Given the description of an element on the screen output the (x, y) to click on. 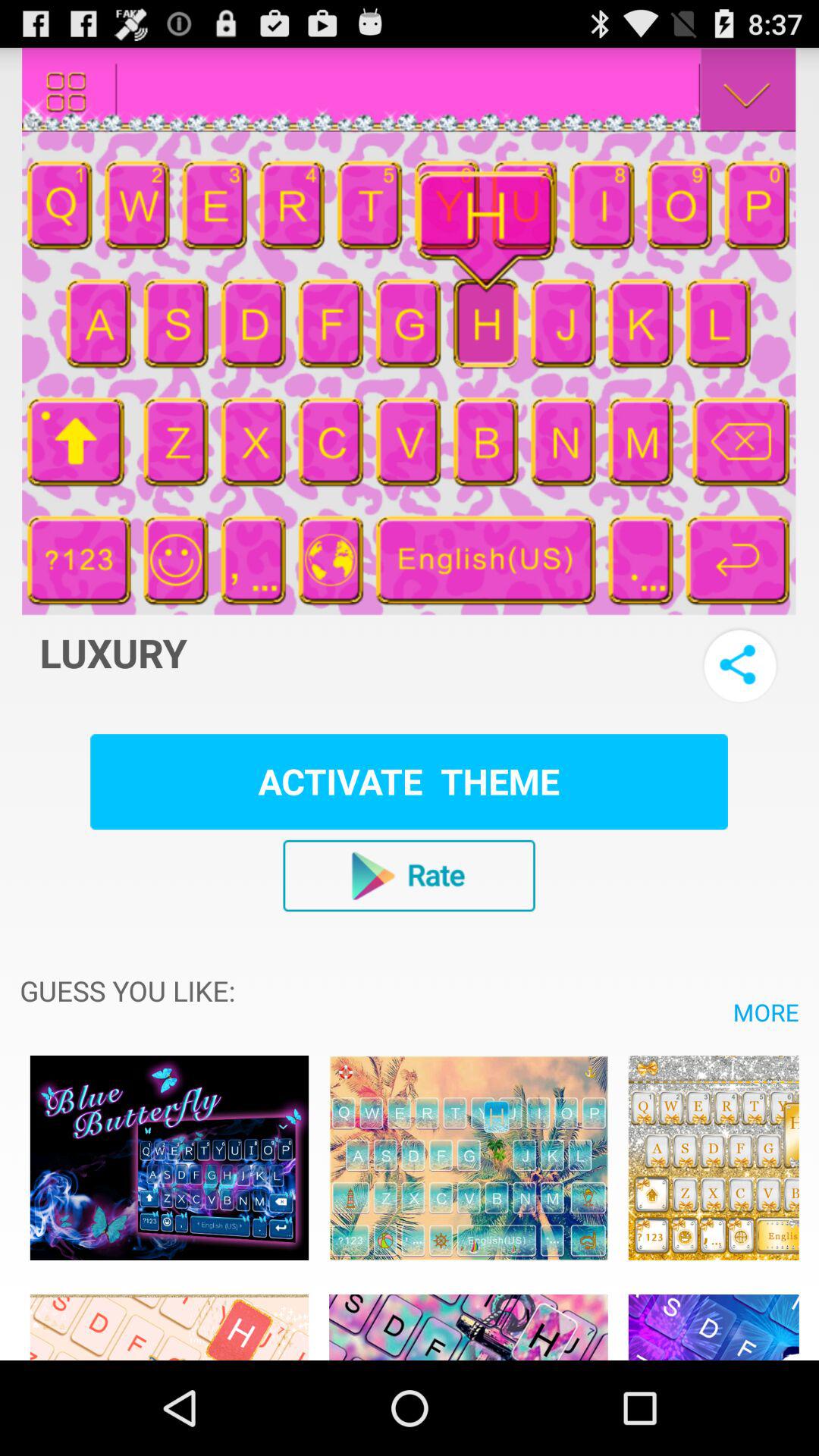
switch keyboard design (713, 1318)
